Given the description of an element on the screen output the (x, y) to click on. 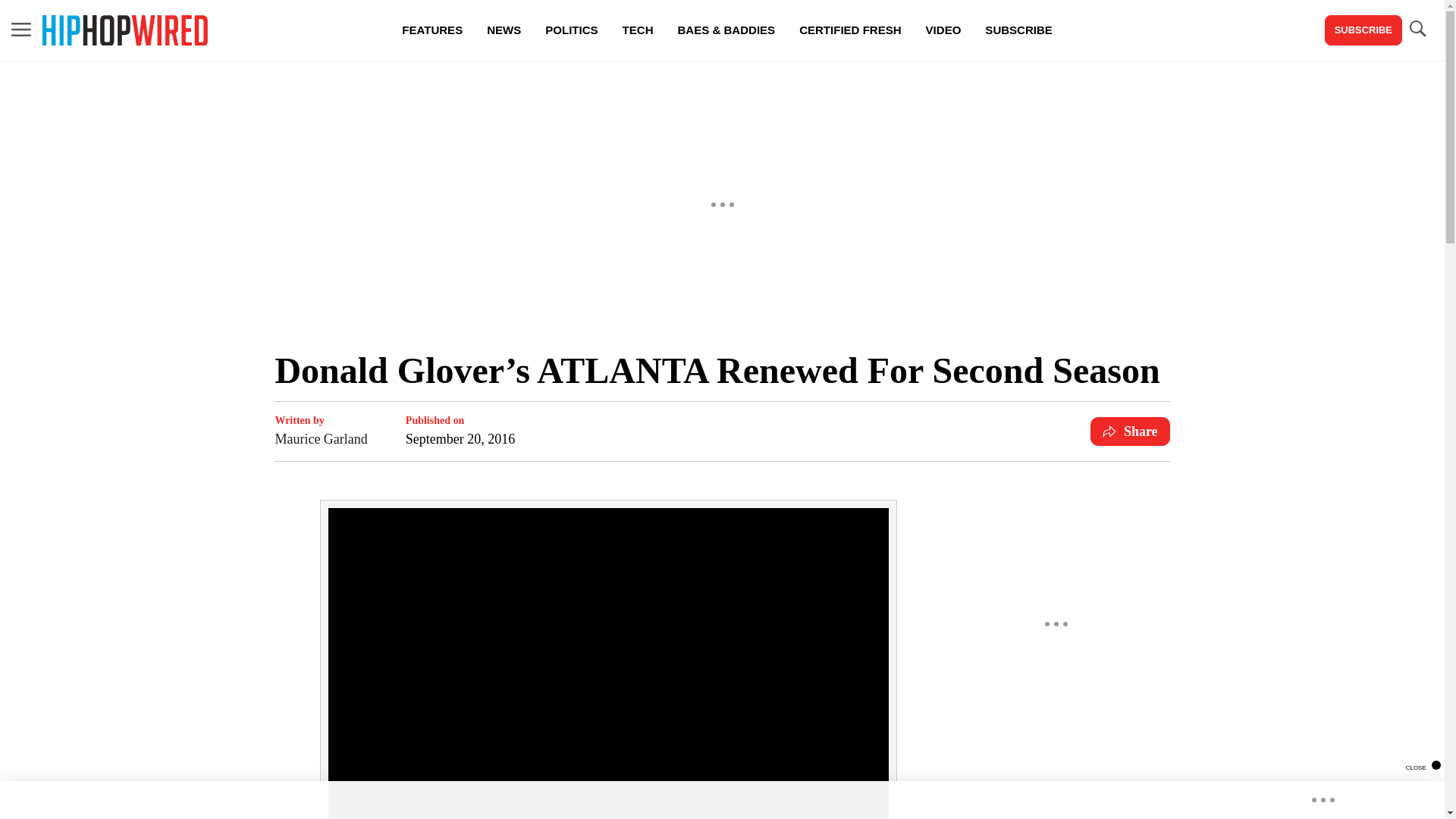
TOGGLE SEARCH (1417, 30)
FEATURES (432, 30)
CERTIFIED FRESH (849, 30)
NEWS (503, 30)
Share (1130, 430)
Maurice Garland (320, 438)
MENU (20, 29)
POLITICS (571, 30)
MENU (20, 30)
SUBSCRIBE (1018, 30)
SUBSCRIBE (1363, 30)
VIDEO (944, 30)
TECH (637, 30)
TOGGLE SEARCH (1417, 28)
